Given the description of an element on the screen output the (x, y) to click on. 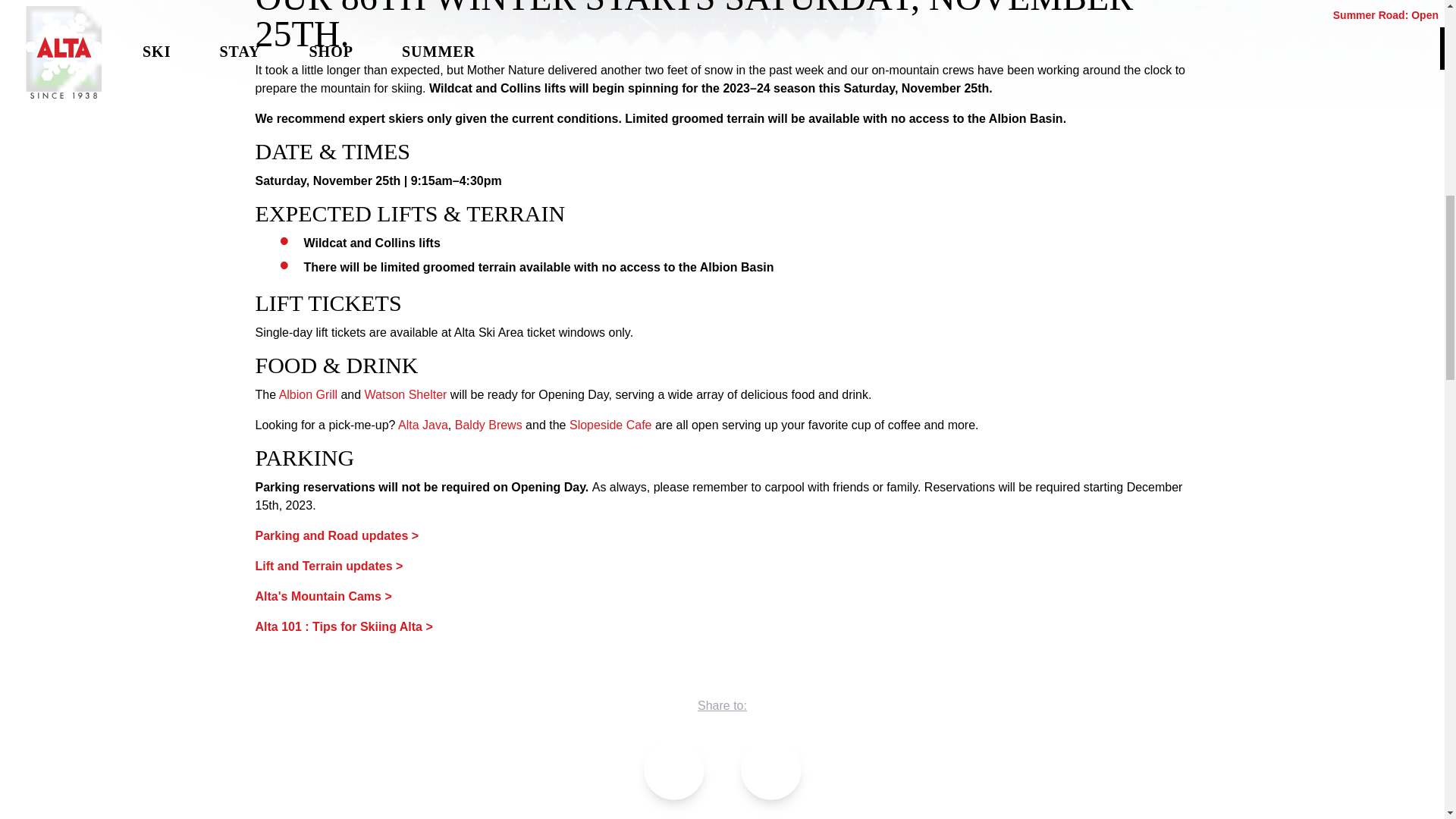
Parking and Road Updates (336, 535)
